Given the description of an element on the screen output the (x, y) to click on. 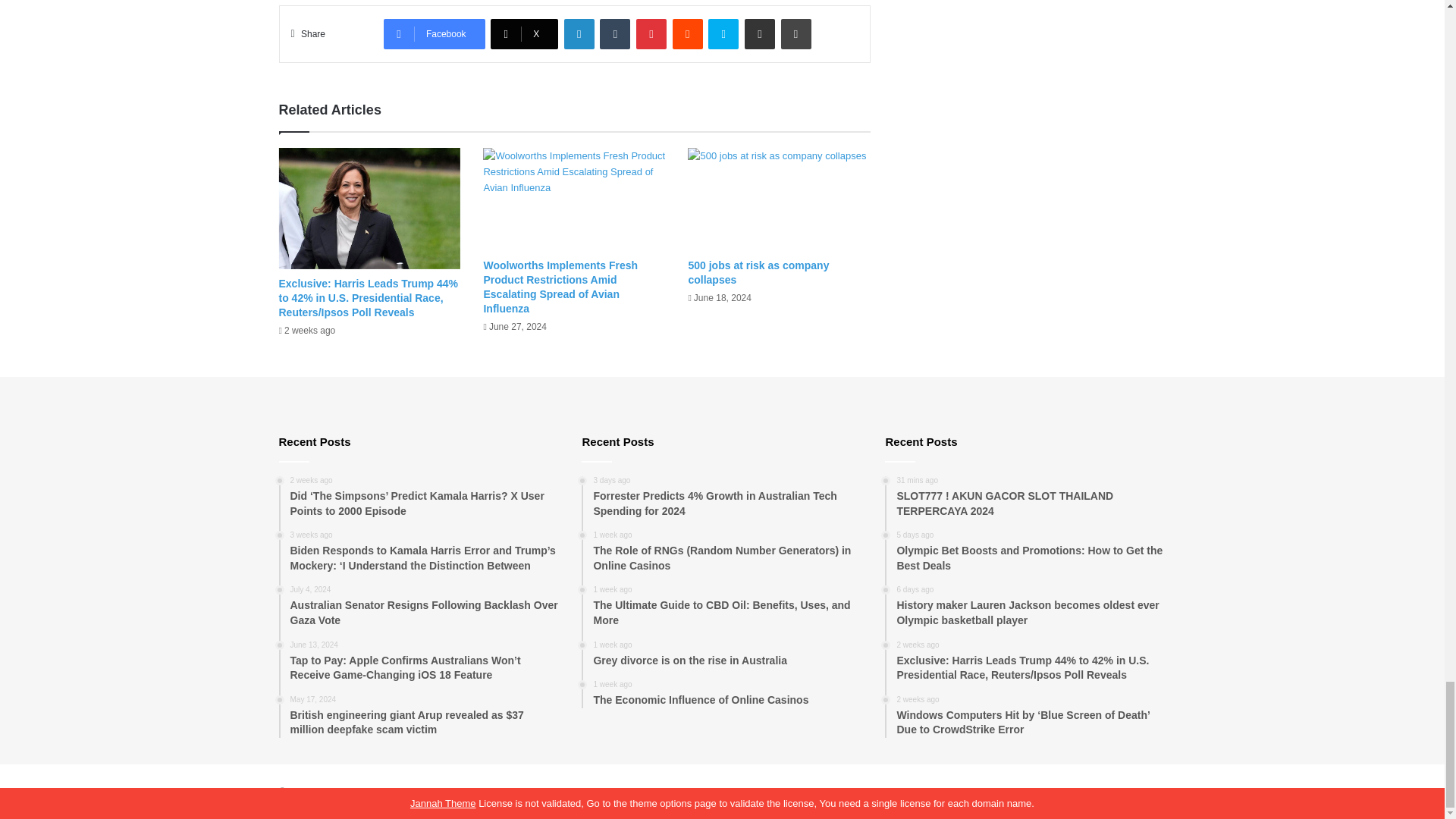
Tumblr (614, 33)
Pinterest (651, 33)
Facebook (434, 33)
Skype (722, 33)
LinkedIn (579, 33)
Reddit (687, 33)
X (523, 33)
